Given the description of an element on the screen output the (x, y) to click on. 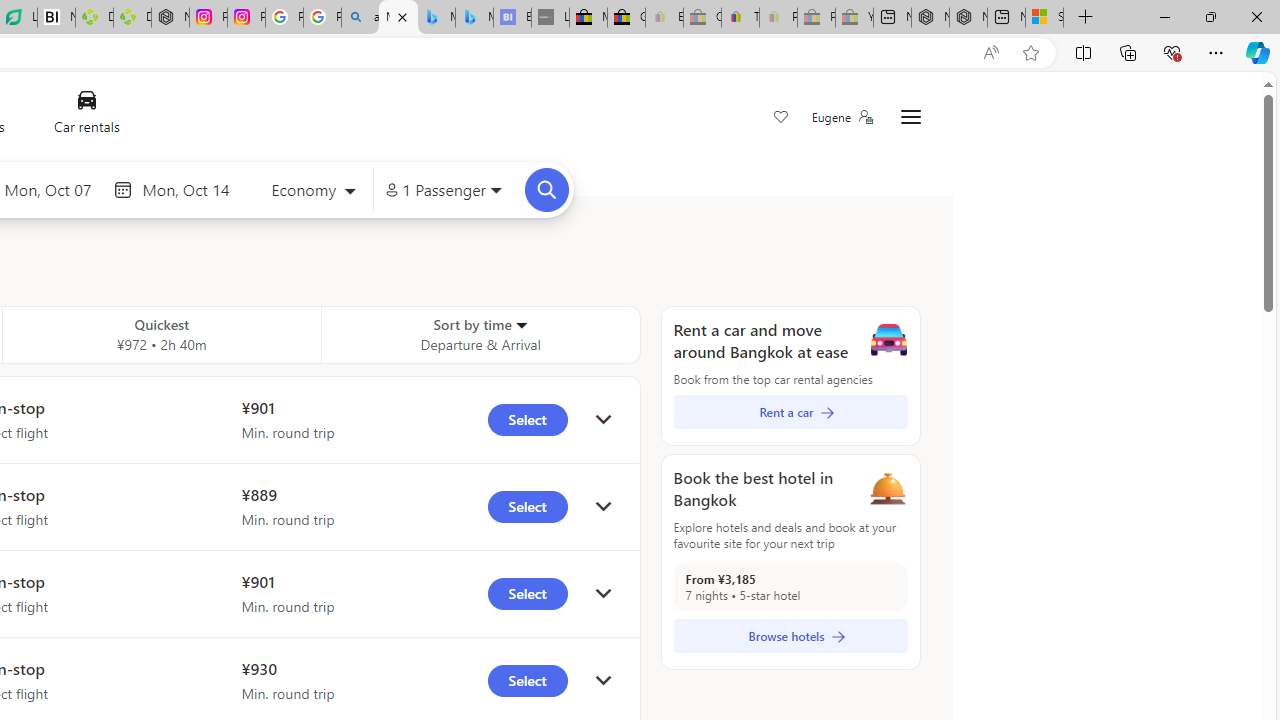
Sorter (520, 324)
Yard, Garden & Outdoor Living - Sleeping (853, 17)
Select class of service (313, 192)
Save (780, 118)
Rent a car (790, 412)
Browse hotels (790, 636)
